Given the description of an element on the screen output the (x, y) to click on. 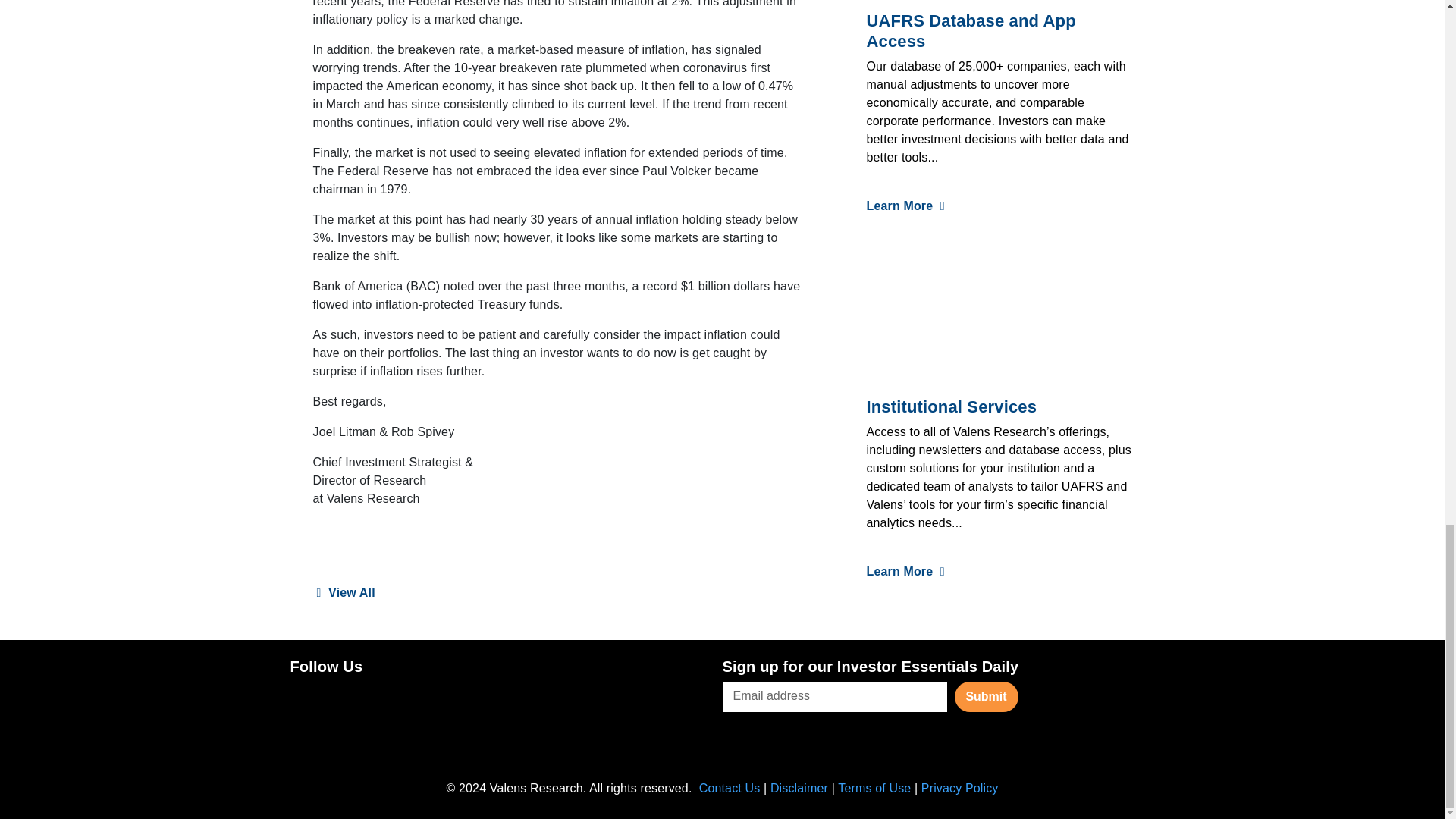
Learn More (904, 571)
Learn More (904, 205)
View All (343, 592)
